Given the description of an element on the screen output the (x, y) to click on. 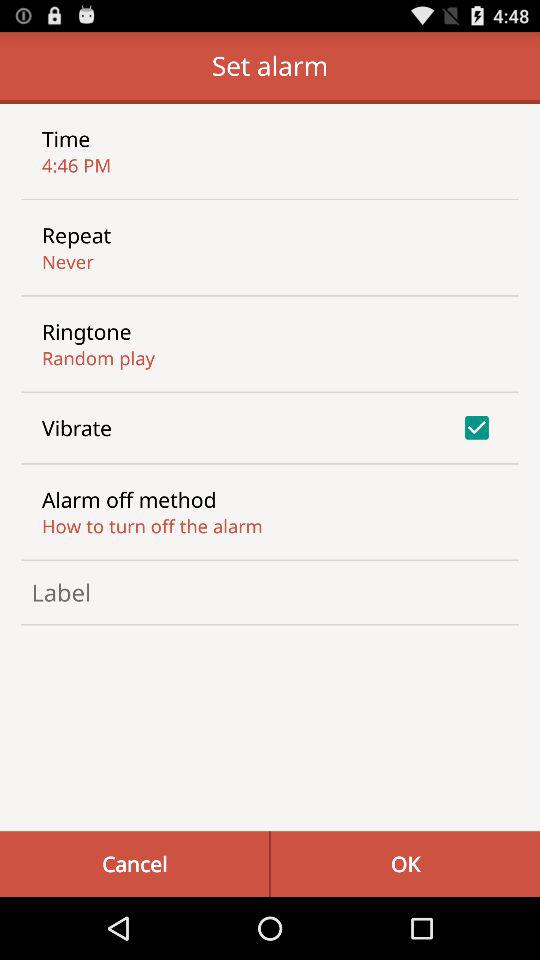
press the vibrate icon (77, 428)
